Given the description of an element on the screen output the (x, y) to click on. 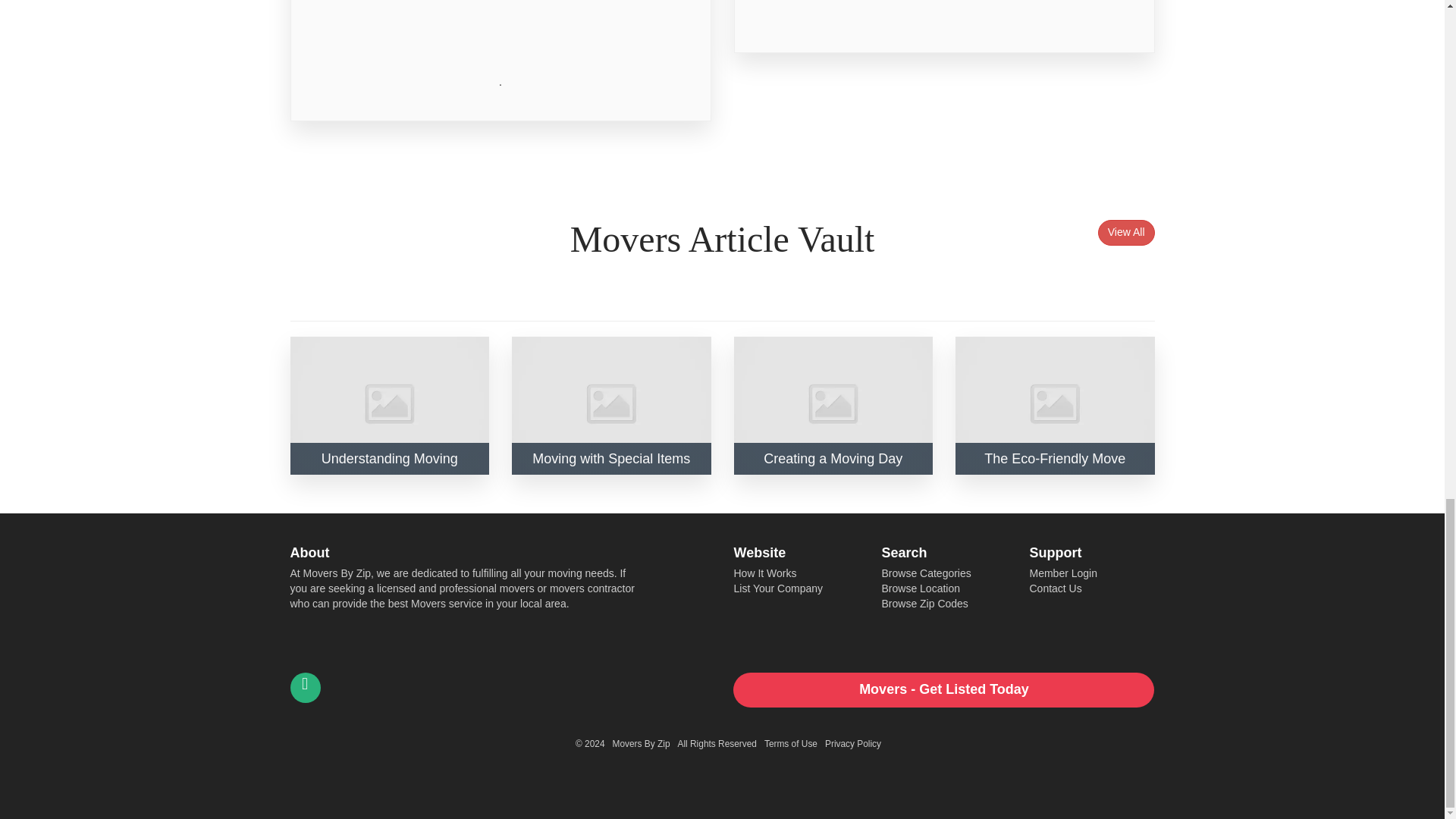
Contact Us Movers By Zip (304, 687)
Movers By Zip (640, 743)
Terms of Use (790, 743)
Privacy Policy (852, 743)
